Given the description of an element on the screen output the (x, y) to click on. 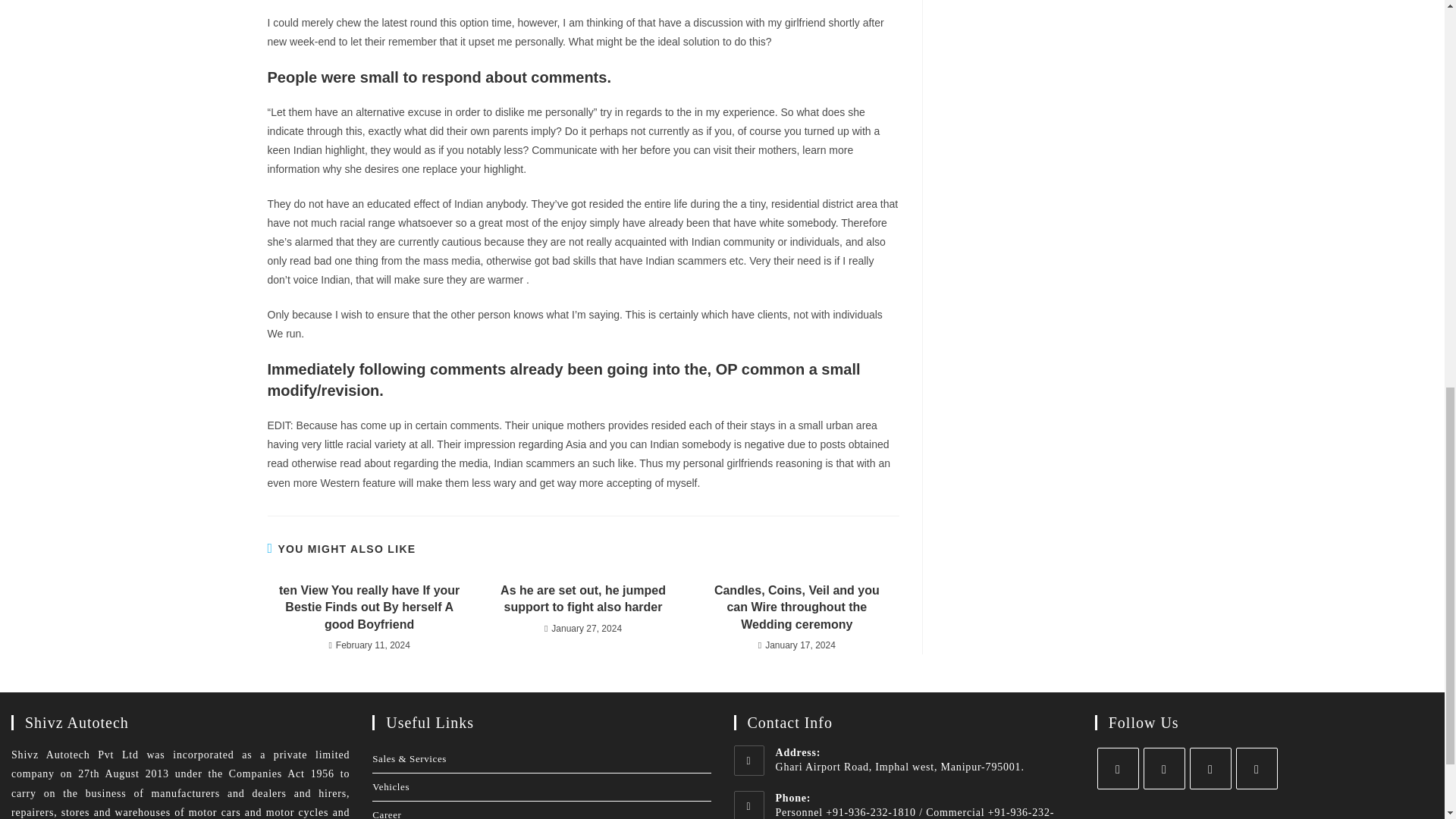
As he are set out, he jumped support to fight also harder (582, 599)
As he are set out, he jumped support to fight also harder (582, 599)
